Given the description of an element on the screen output the (x, y) to click on. 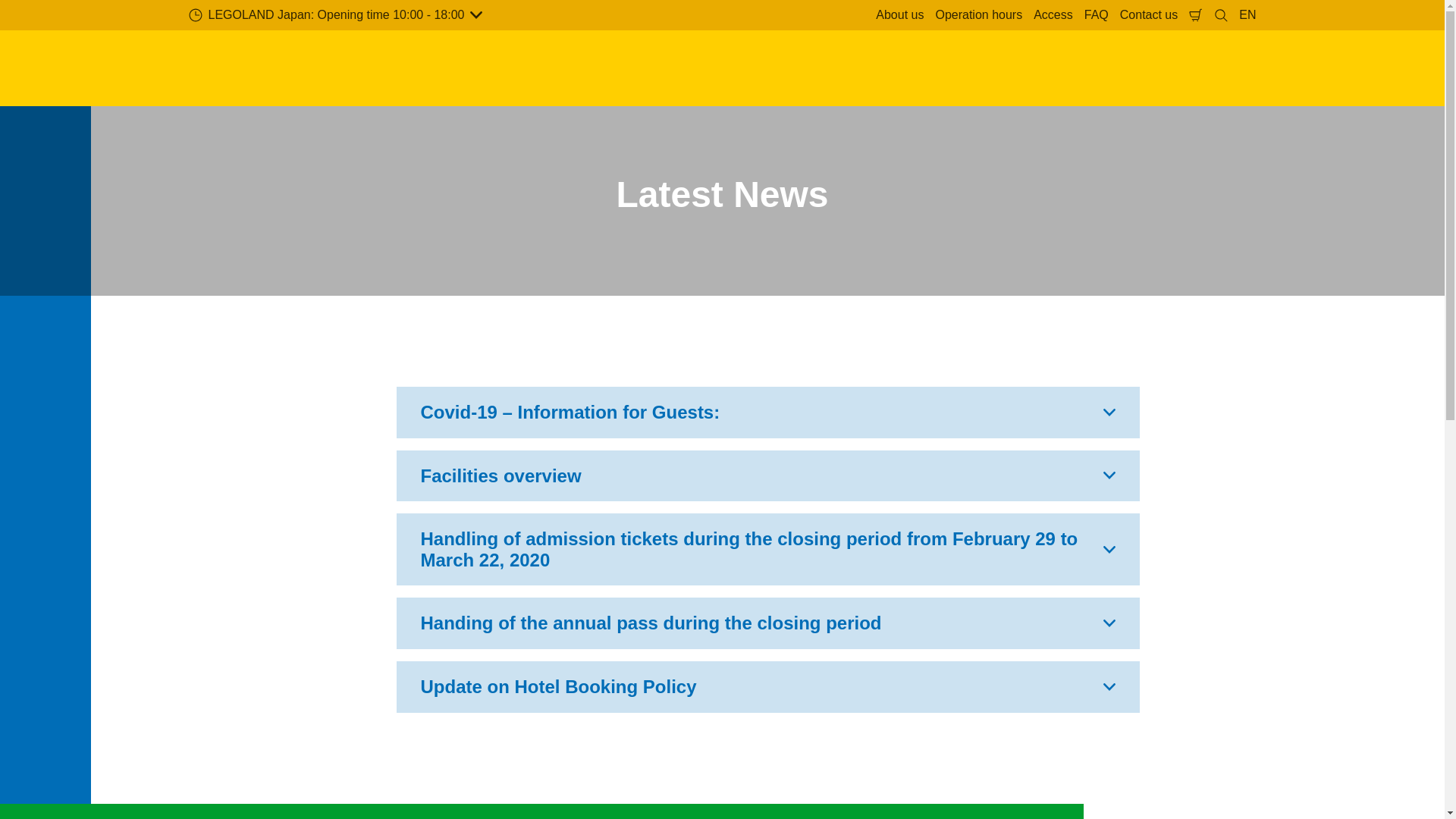
Shopping Cart (1196, 14)
Search (1220, 14)
LEGOLAND Japan: Opening time 10:00 - 18:00 (335, 14)
FAQ (1096, 14)
Language (1246, 14)
Operation hours (978, 14)
Contact us (1148, 14)
About us (899, 14)
Access (1053, 14)
Shopping cart (1246, 14)
